Given the description of an element on the screen output the (x, y) to click on. 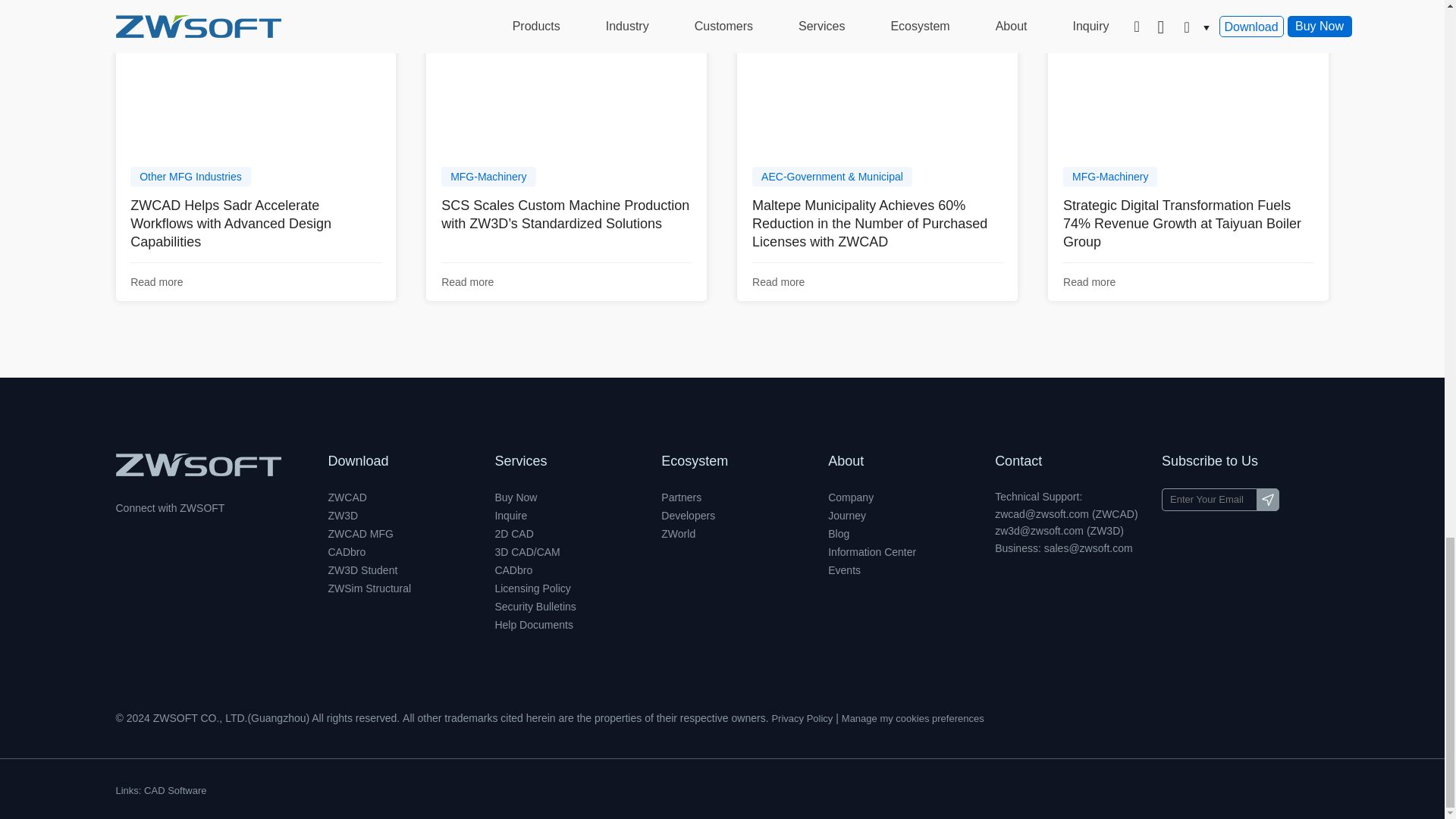
cad software (198, 464)
CAD Software (175, 791)
Click to subscribe. (1267, 499)
